Given the description of an element on the screen output the (x, y) to click on. 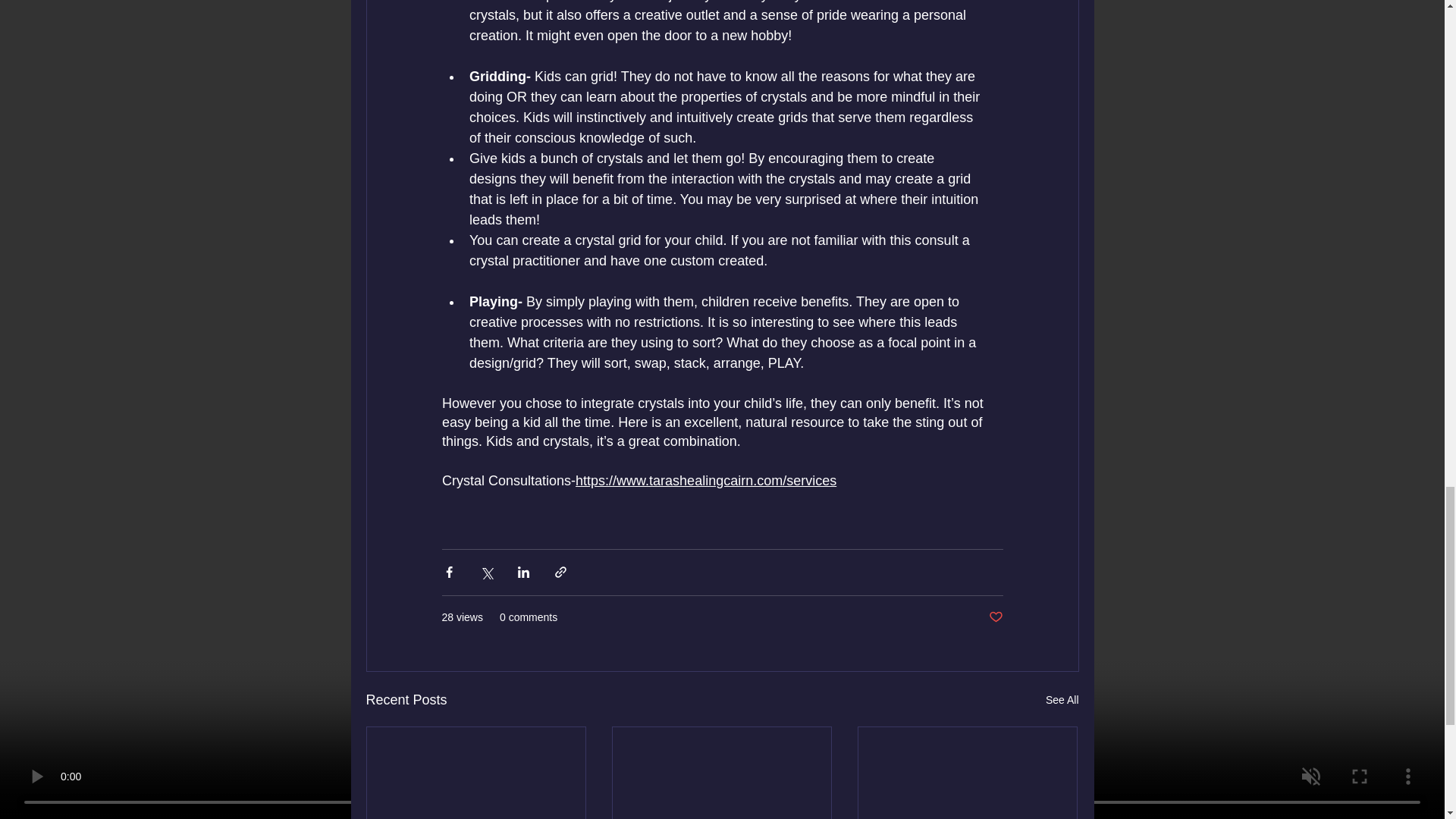
See All (1061, 700)
Post not marked as liked (995, 617)
